Given the description of an element on the screen output the (x, y) to click on. 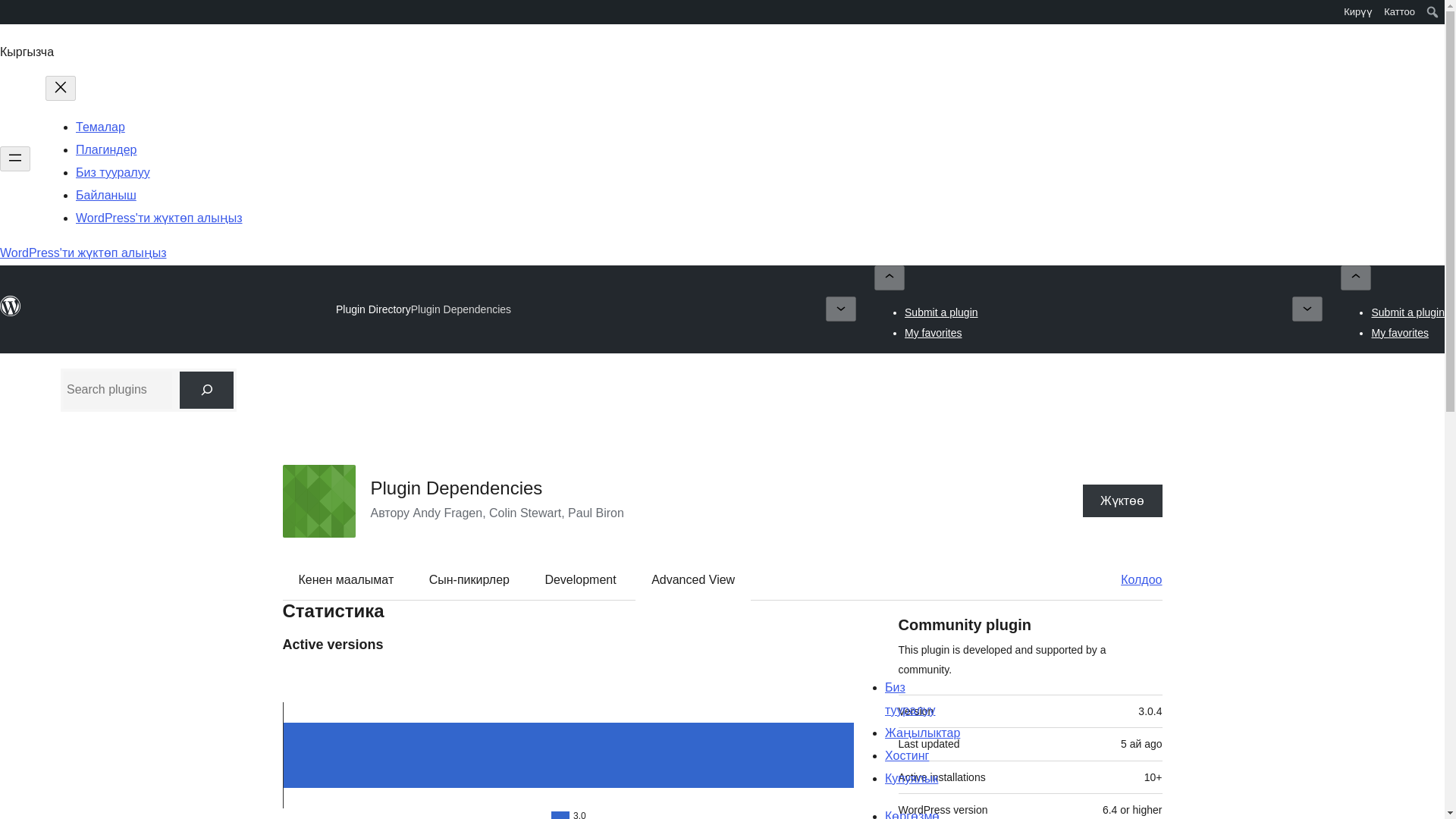
Advanced View (692, 579)
My favorites (932, 331)
WordPress.org (10, 16)
Plugin Directory (373, 309)
WordPress.org (10, 305)
Plugin Dependencies (455, 487)
My favorites (1399, 331)
Development (579, 579)
WordPress.org (10, 10)
Plugin Dependencies (460, 309)
Submit a plugin (941, 312)
WordPress.org (10, 313)
3.0 (567, 745)
